Given the description of an element on the screen output the (x, y) to click on. 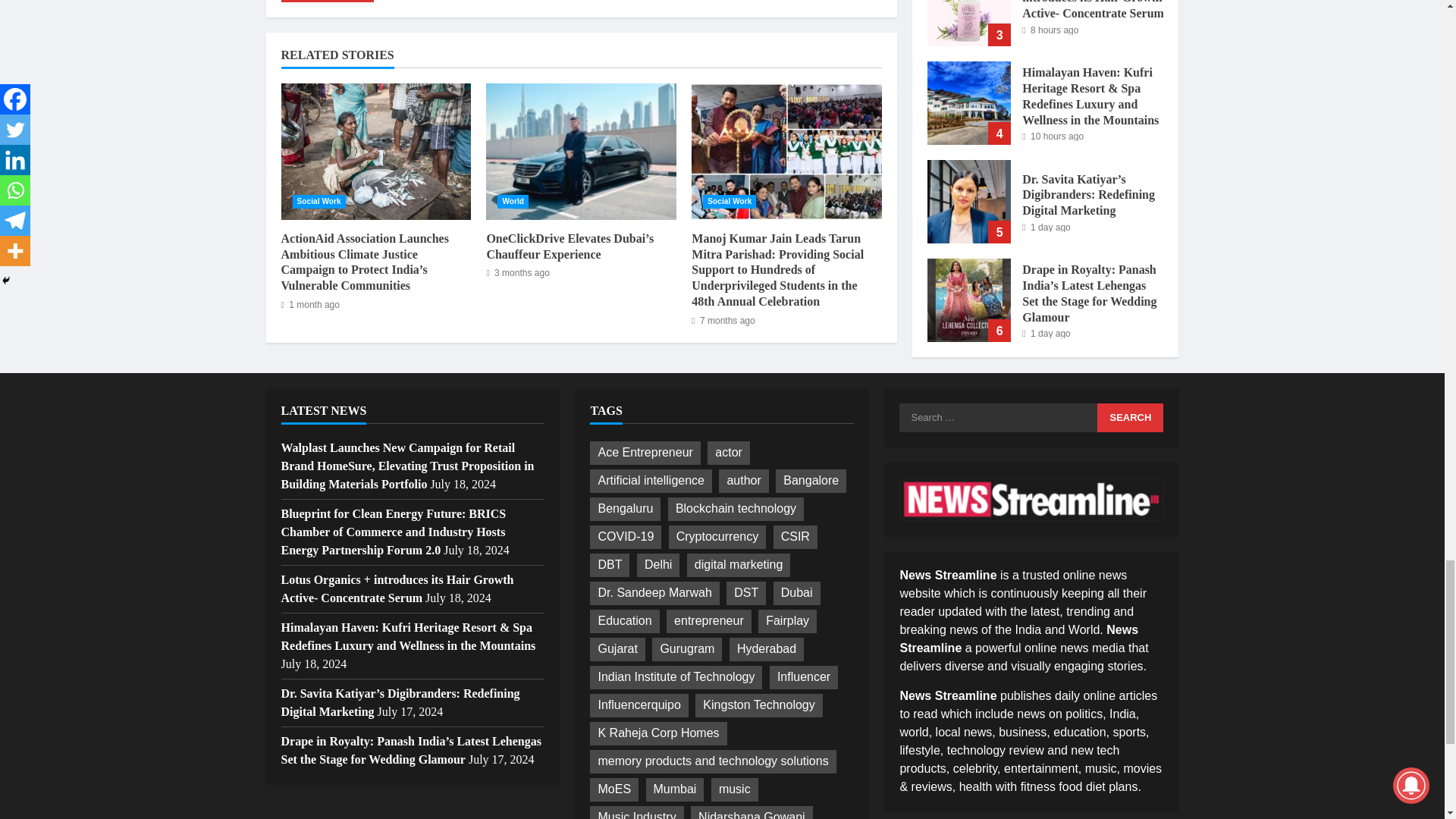
Post Comment (326, 1)
Search (1130, 417)
Search (1130, 417)
